Given the description of an element on the screen output the (x, y) to click on. 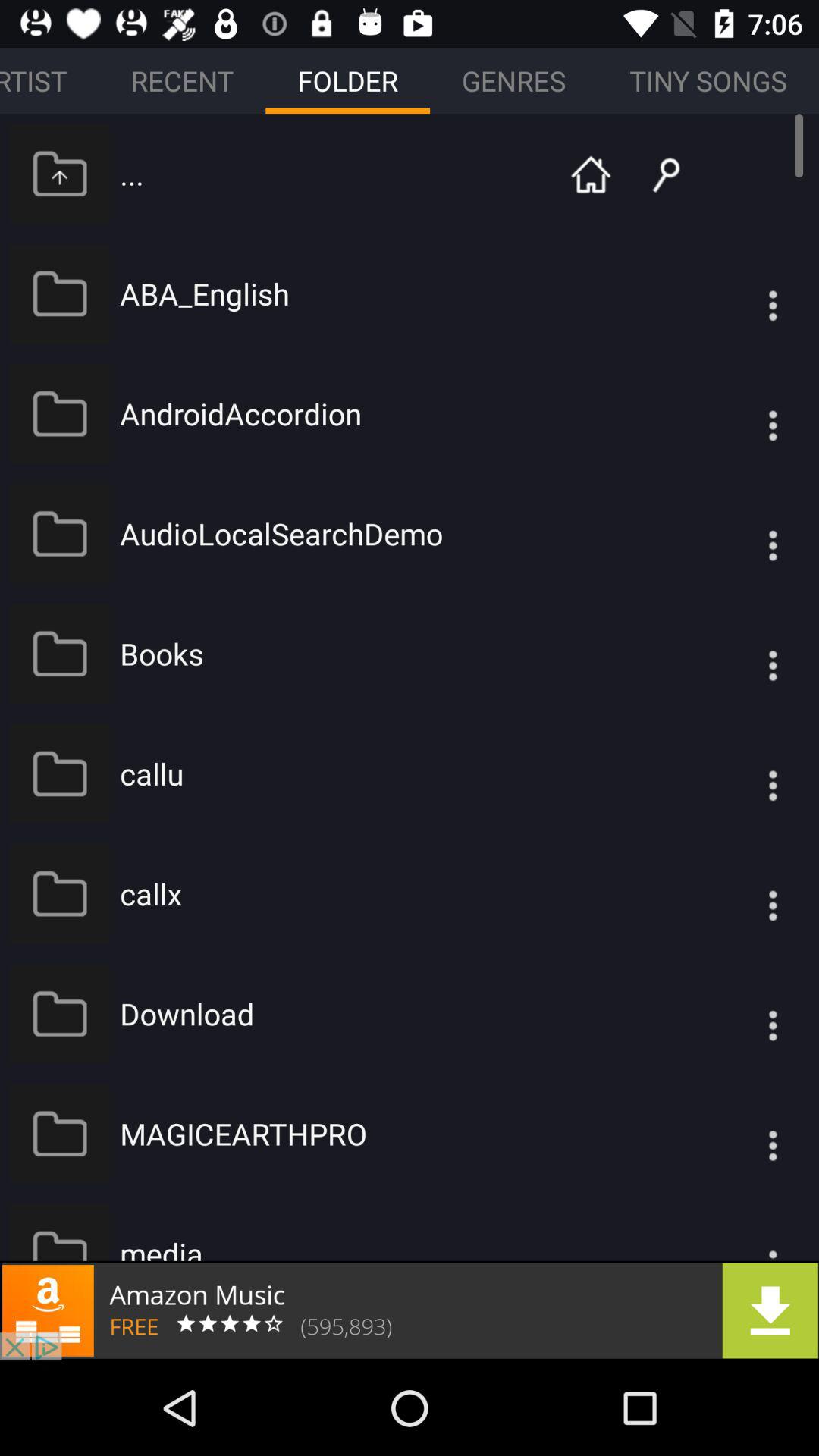
go to customize (742, 293)
